Given the description of an element on the screen output the (x, y) to click on. 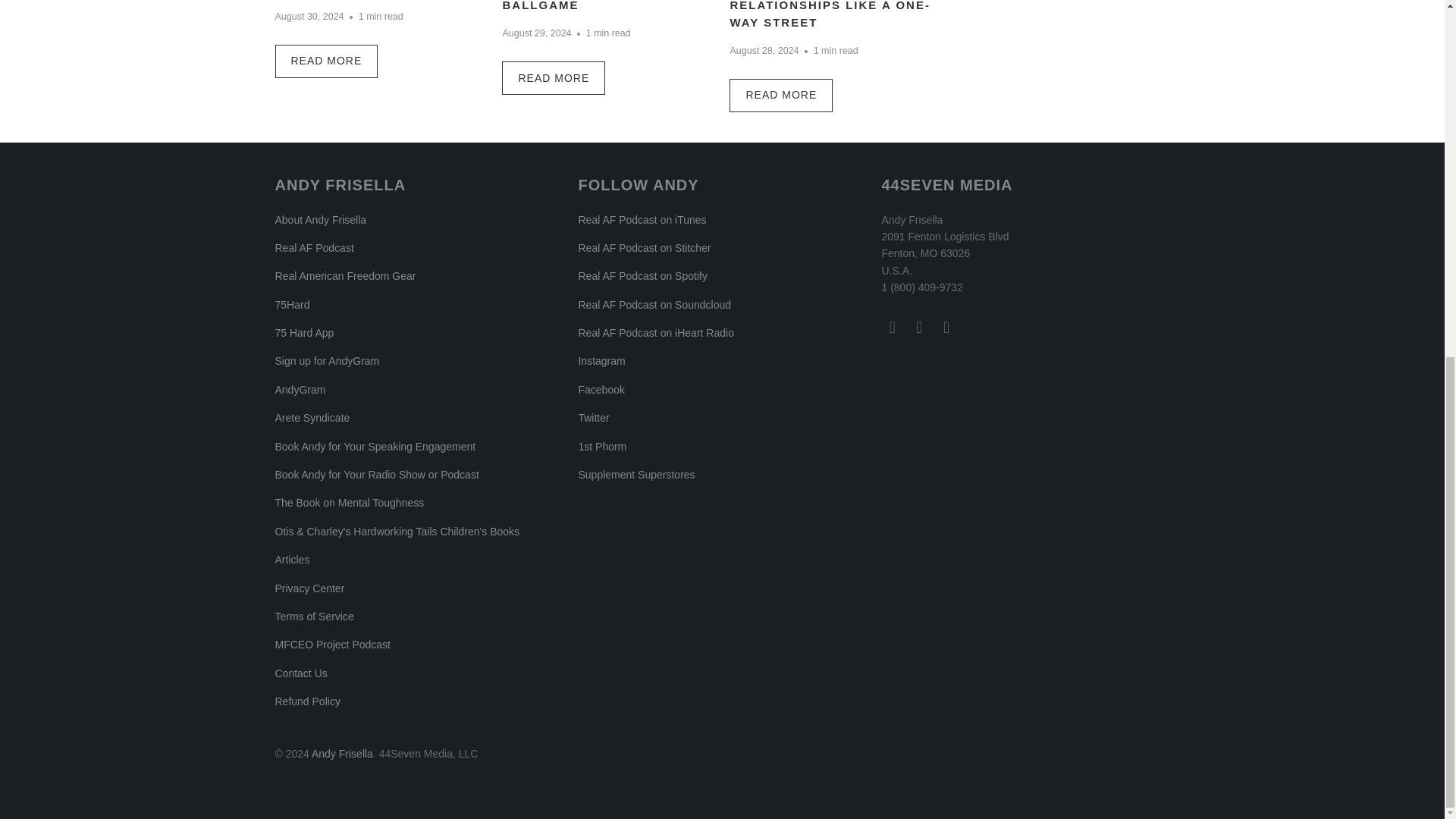
Base Hits Win the Ballgame (553, 78)
Base Hits Win the Ballgame (571, 5)
Stop Treating Relationships Like a One-Way Street (780, 94)
Stop Treating Relationships Like a One-Way Street (829, 13)
Don't Be One of Them (326, 61)
